Given the description of an element on the screen output the (x, y) to click on. 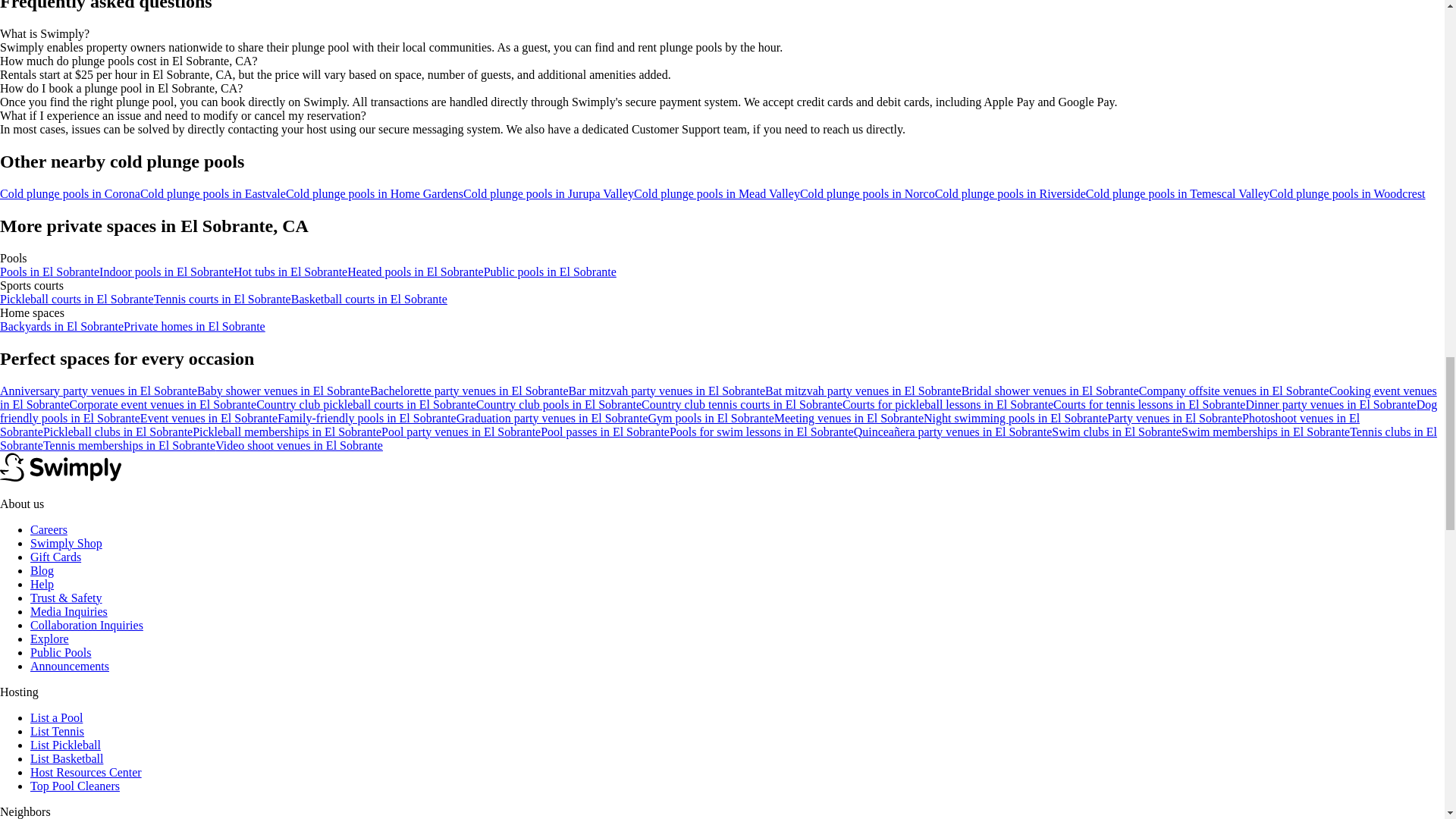
Cold plunge pools in Temescal Valley (1177, 193)
Collaboration Inquiries (86, 625)
List a Pool (56, 717)
Cold plunge pools in Corona (69, 193)
Cold plunge pools in Woodcrest (1347, 193)
Explore (49, 638)
Top Pool Cleaners (74, 785)
Public Pools (60, 652)
Indoor pools in El Sobrante (165, 271)
Hot tubs in El Sobrante (289, 271)
